Given the description of an element on the screen output the (x, y) to click on. 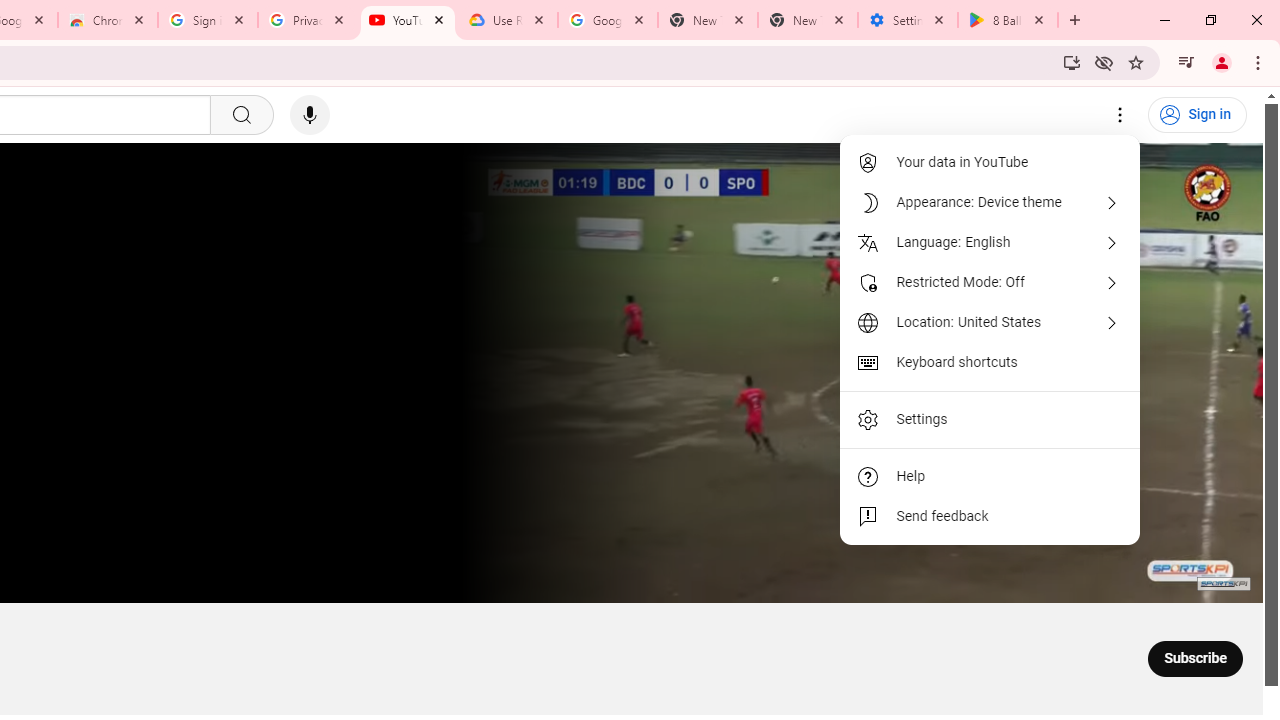
Chrome Web Store - Color themes by Chrome (107, 20)
Search with your voice (309, 115)
